Given the description of an element on the screen output the (x, y) to click on. 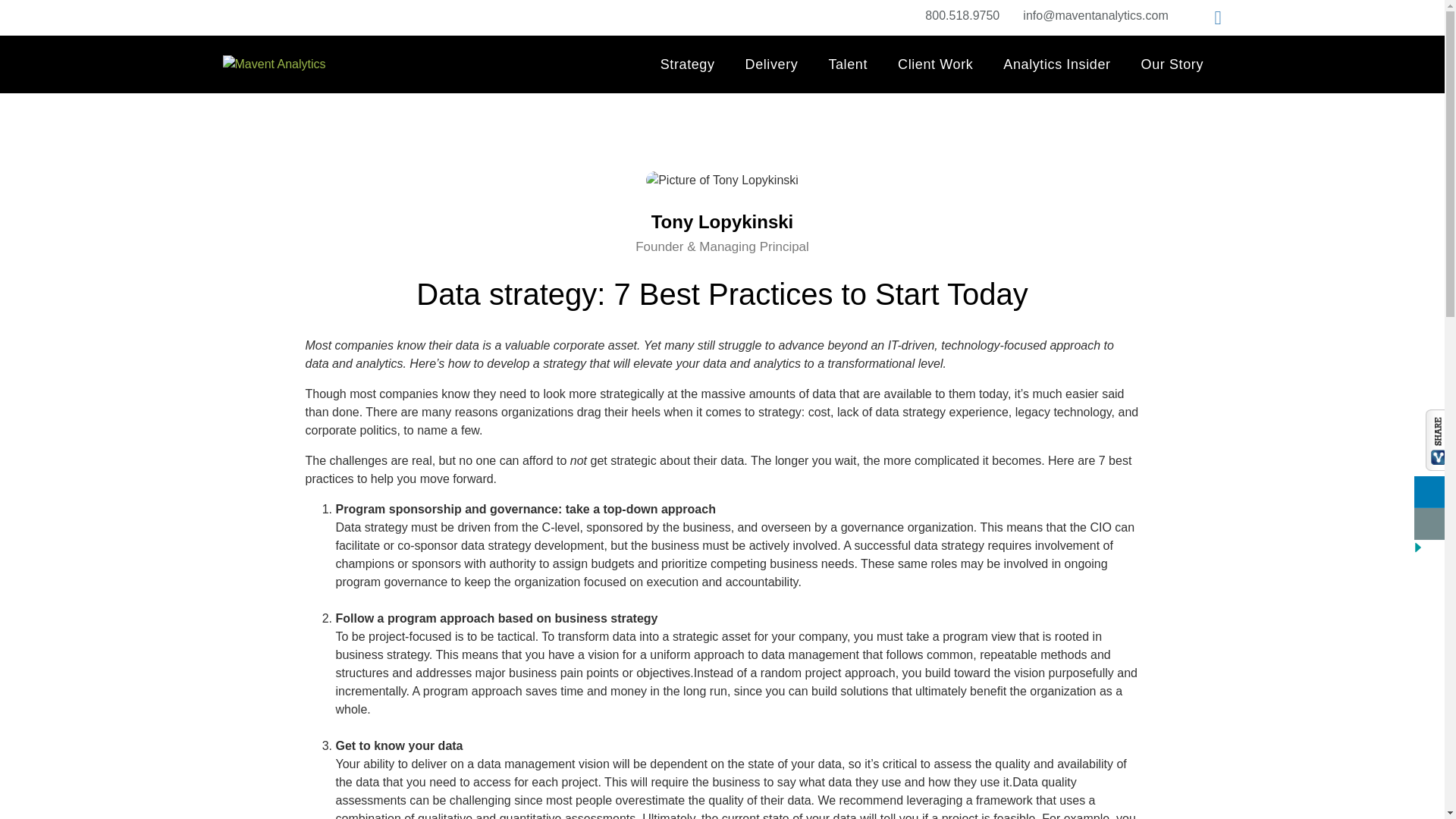
Our Story (1171, 63)
Talent (847, 63)
Strategy (687, 63)
Client Work (935, 63)
Analytics Insider (1056, 63)
Mavent-logo-R350-1 (274, 64)
Delivery (771, 63)
